Given the description of an element on the screen output the (x, y) to click on. 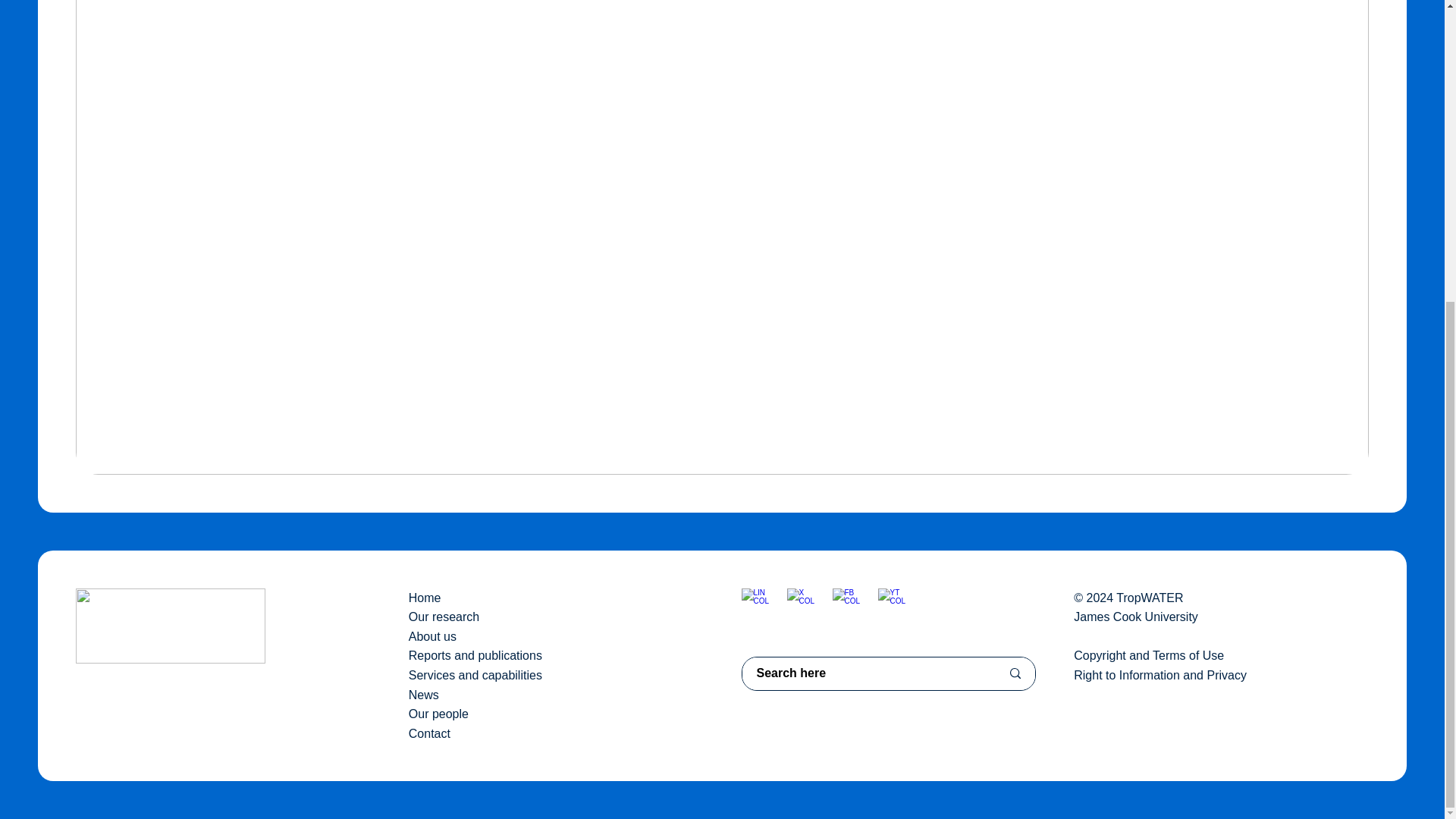
About us (433, 635)
Our research (444, 616)
Our people (438, 713)
Copyright and Terms of Use (1149, 655)
Right to Information and Privacy (1160, 675)
Home (425, 597)
News (424, 694)
Reports and publications (475, 655)
Contact (429, 733)
Services and capabilities (475, 675)
